Given the description of an element on the screen output the (x, y) to click on. 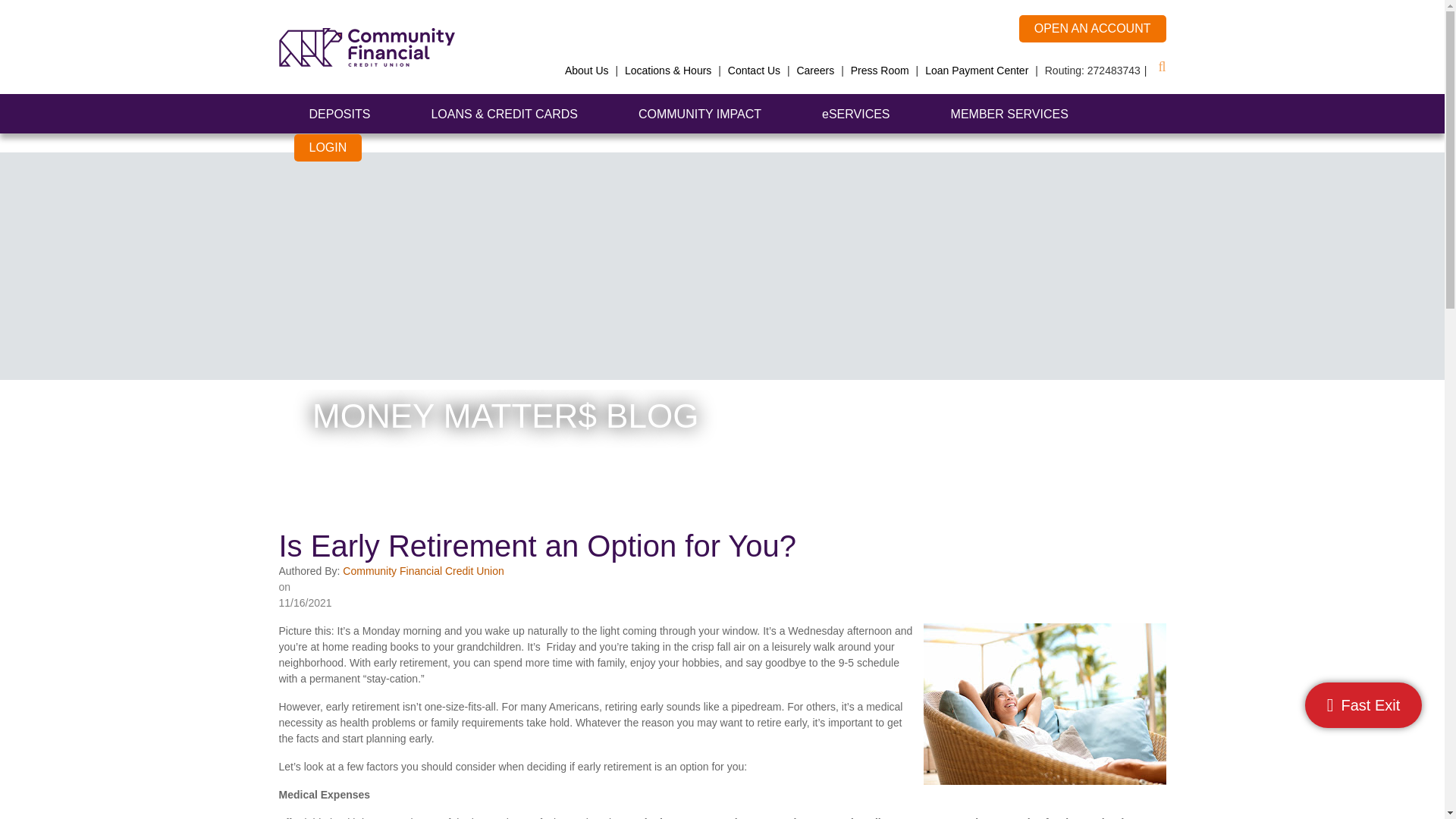
Community Financial Credit Union (366, 46)
